Given the description of an element on the screen output the (x, y) to click on. 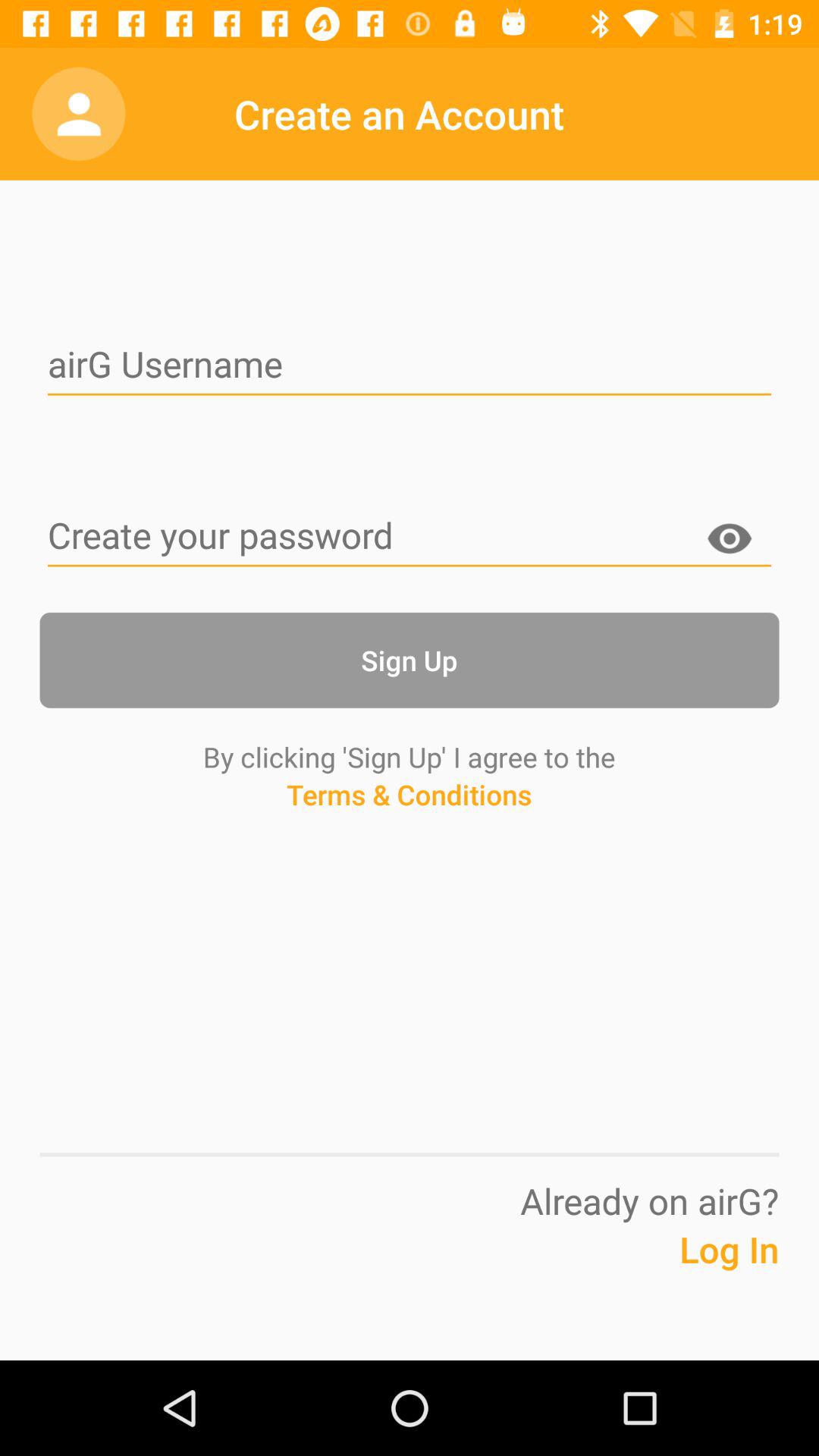
toggle show/hide password (729, 541)
